Given the description of an element on the screen output the (x, y) to click on. 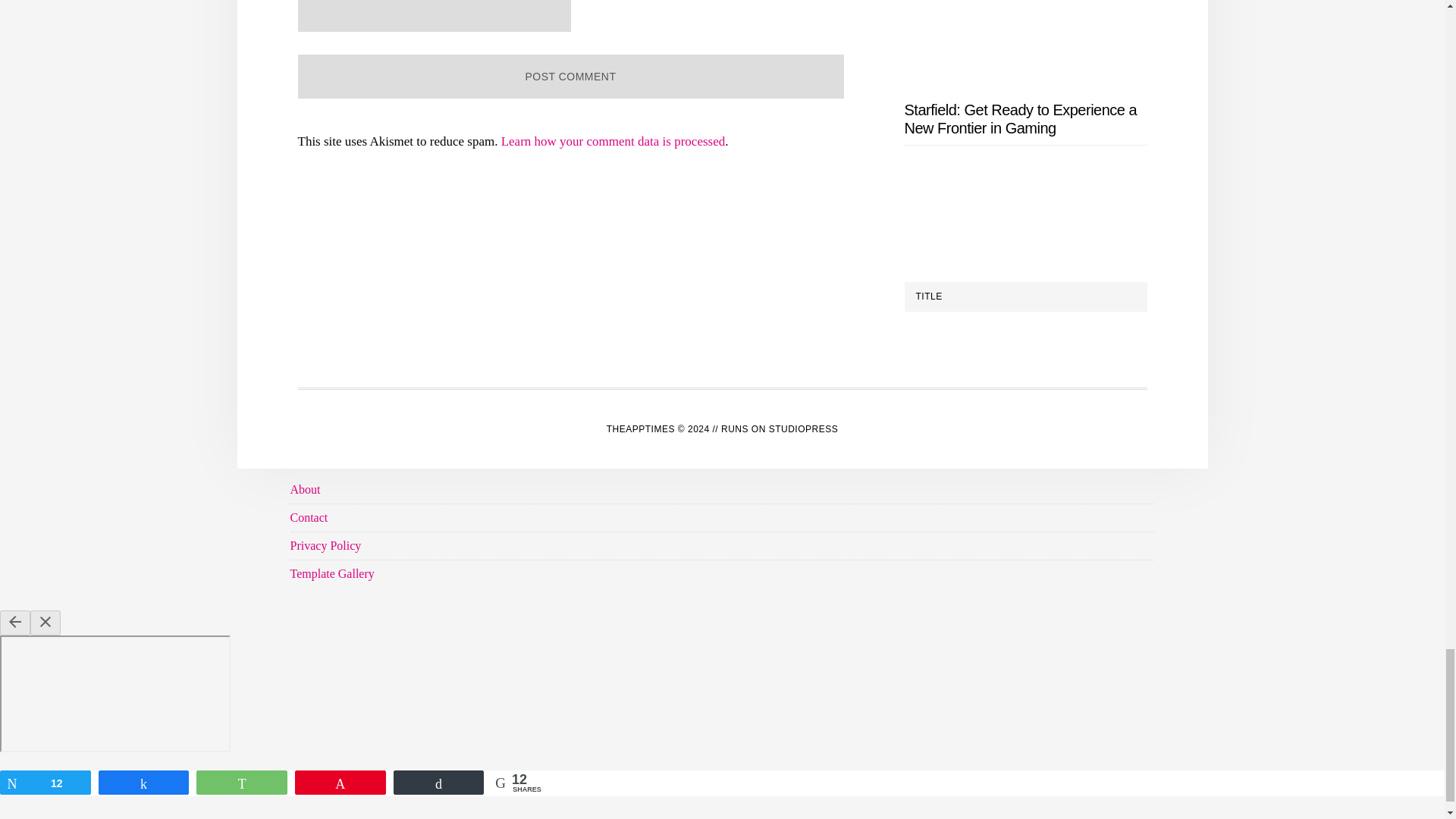
Post Comment (570, 76)
Post Comment (570, 76)
Learn how your comment data is processed (612, 141)
